Given the description of an element on the screen output the (x, y) to click on. 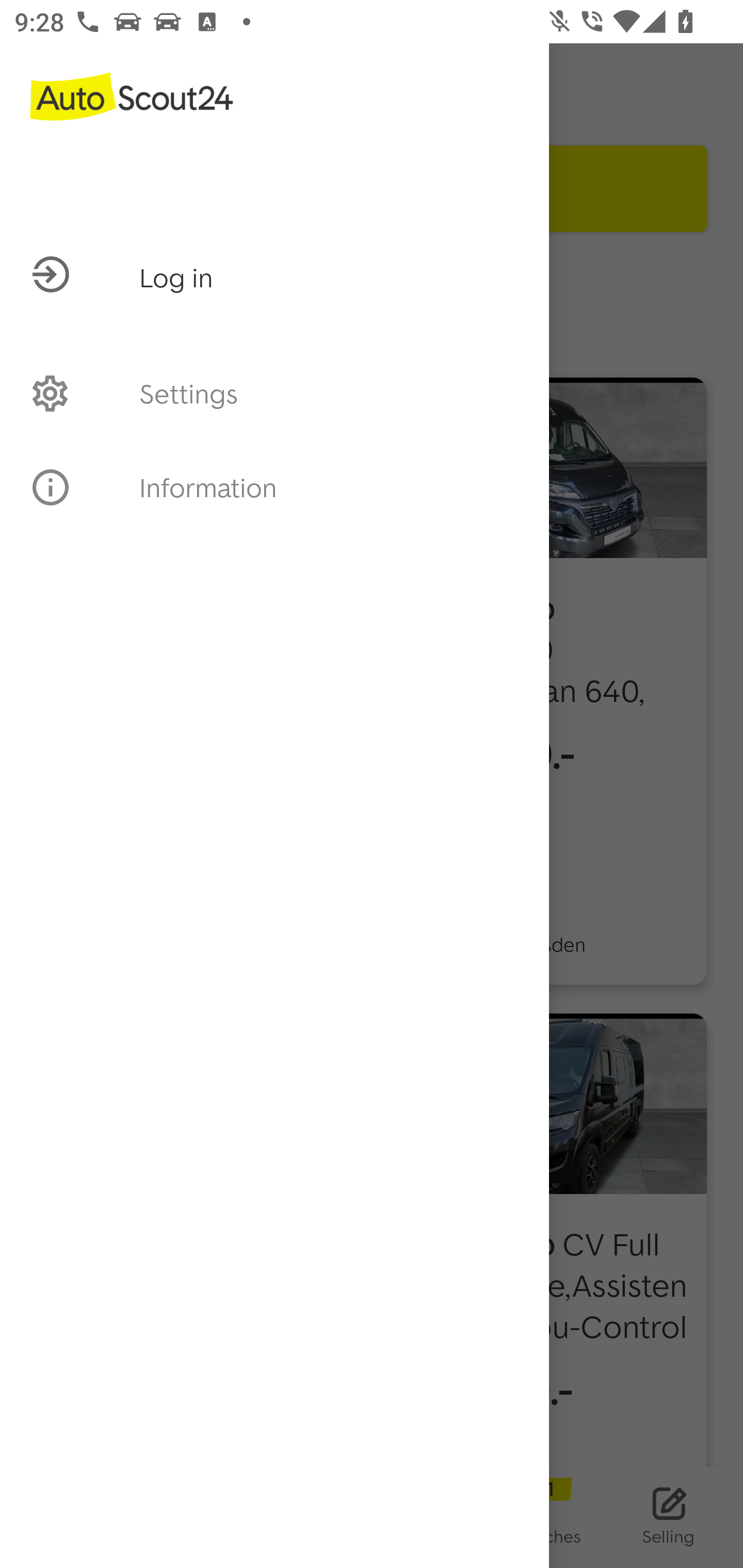
PROFILE Settings (274, 393)
INFO Information (274, 487)
